Given the description of an element on the screen output the (x, y) to click on. 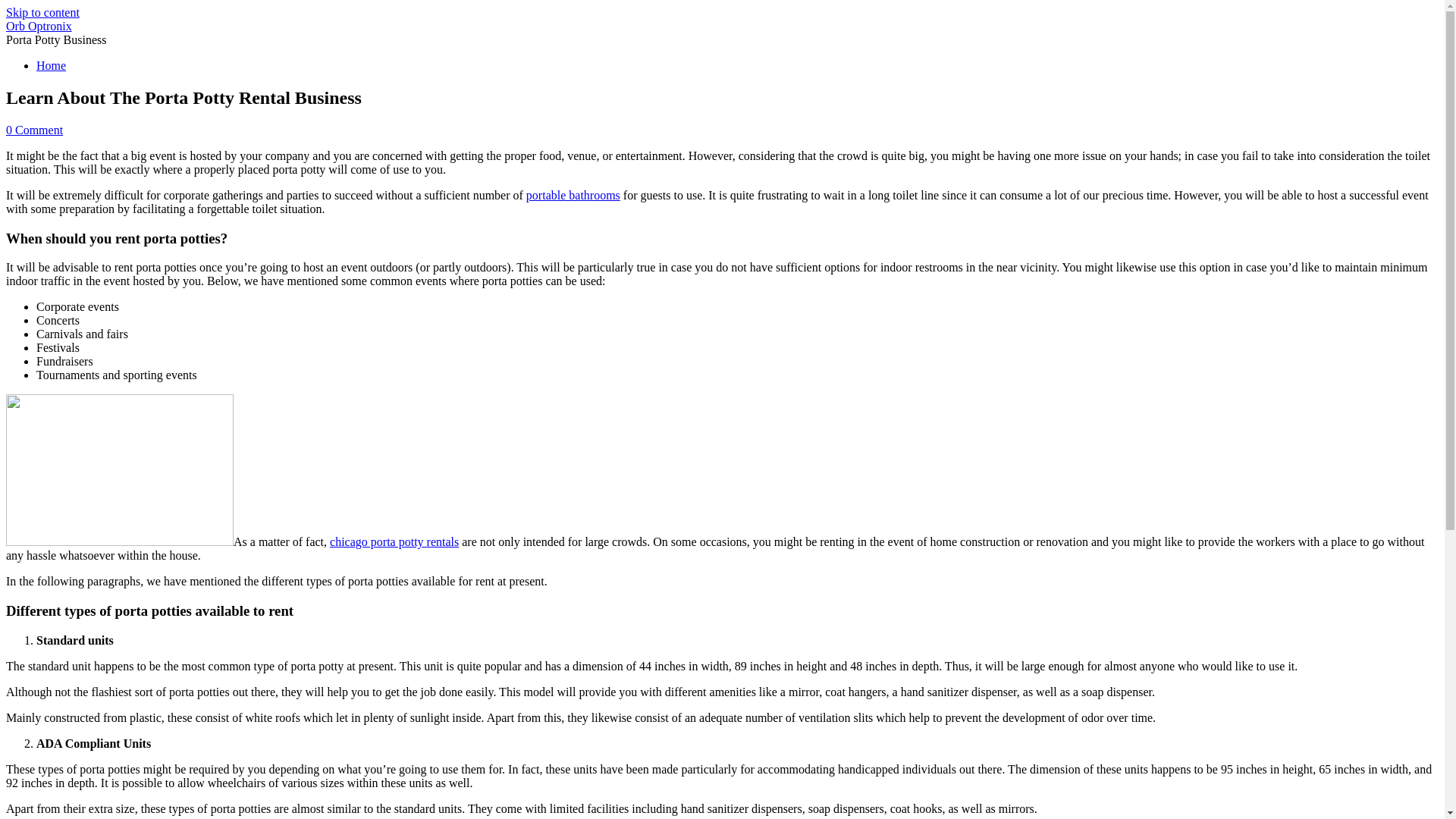
Orb Optronix (38, 25)
chicago porta potty rentals (394, 541)
Home (50, 65)
Orb Optronix (38, 25)
portable bathrooms (572, 195)
Skip to content (42, 11)
Porta Potty Business (55, 39)
0 Comment (33, 129)
Skip to content (42, 11)
